Given the description of an element on the screen output the (x, y) to click on. 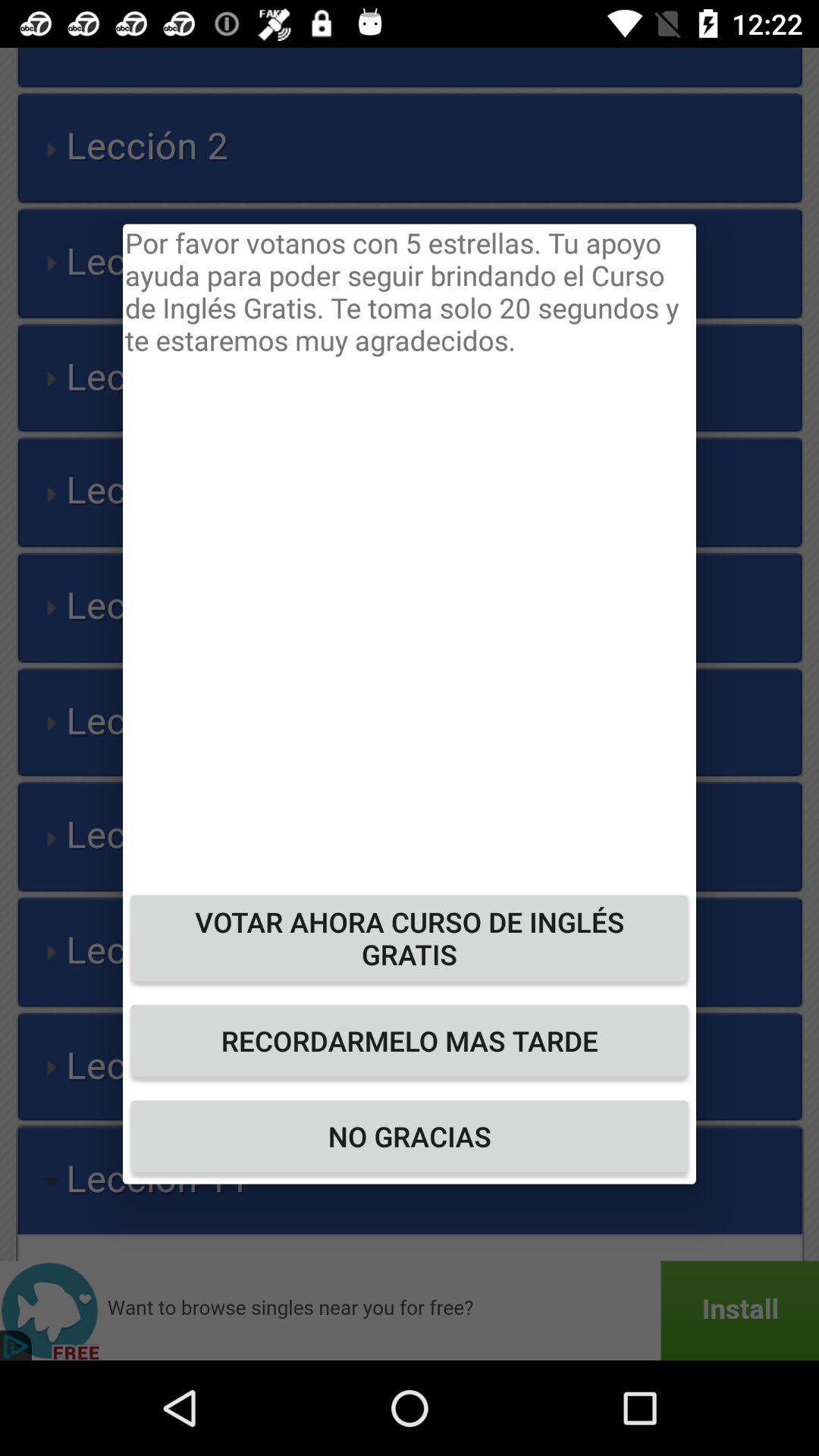
launch the button below the recordarmelo mas tarde (409, 1136)
